Given the description of an element on the screen output the (x, y) to click on. 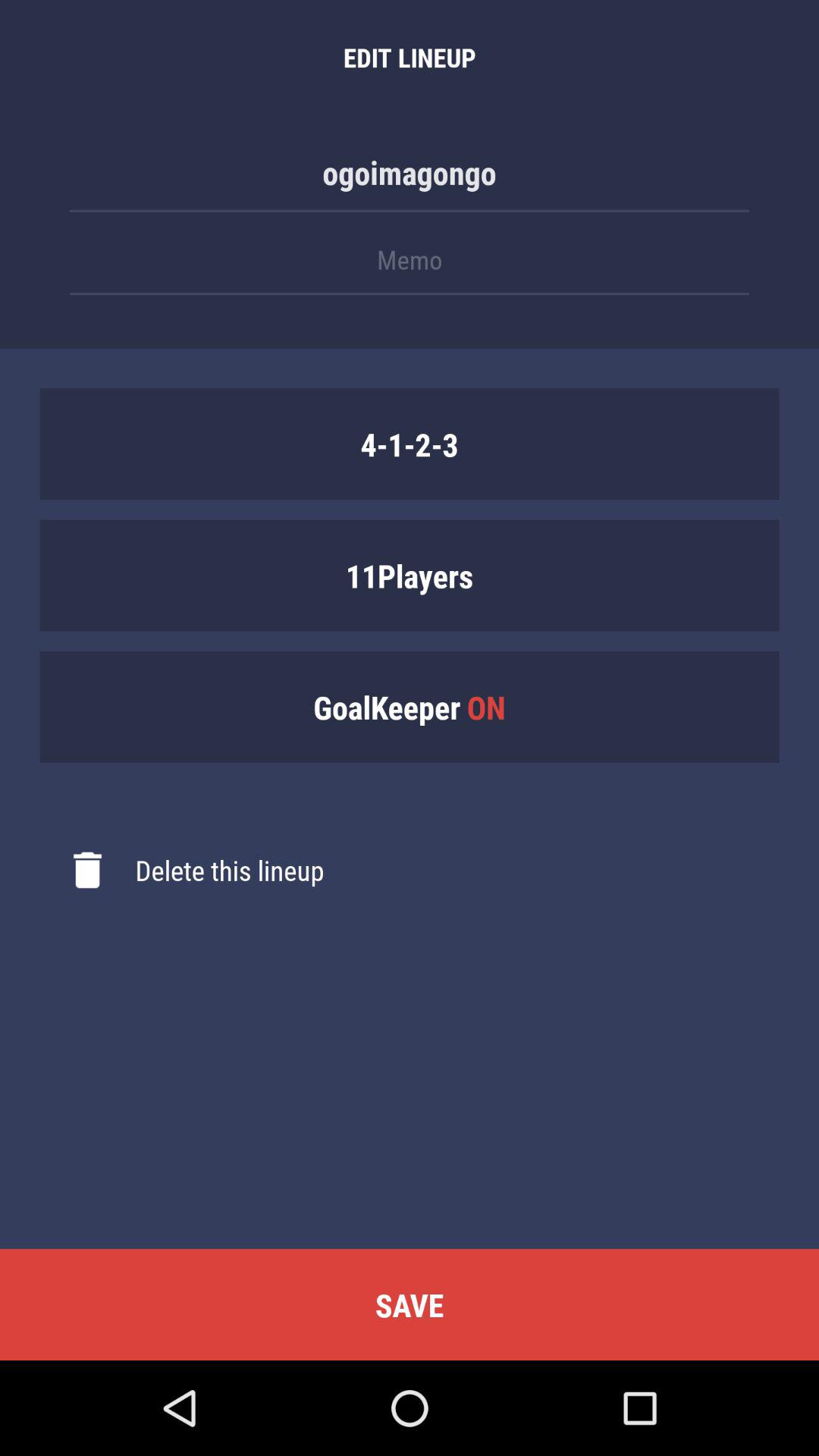
launch item above 11players (409, 443)
